Given the description of an element on the screen output the (x, y) to click on. 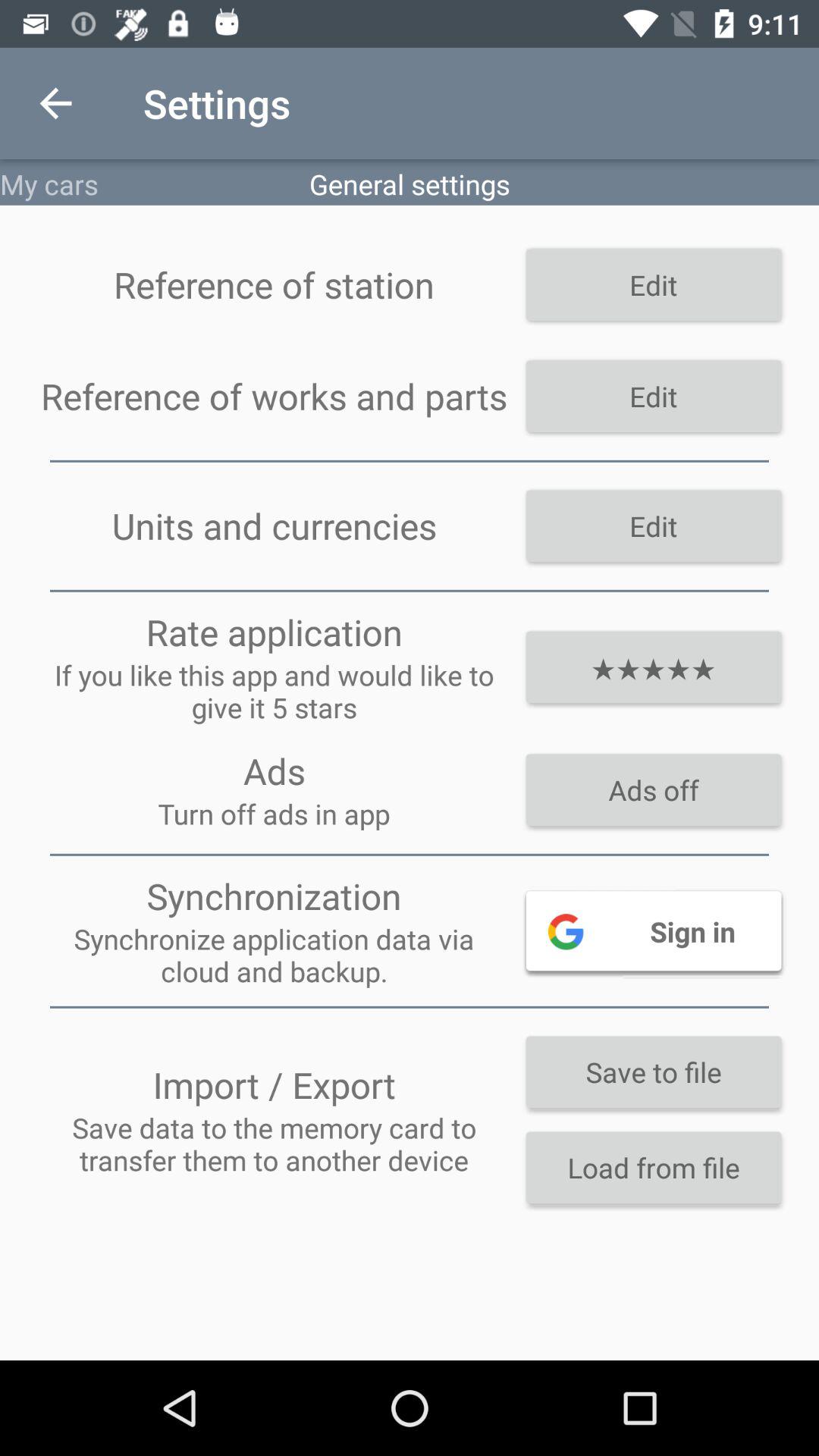
flip until the load from file (653, 1167)
